Given the description of an element on the screen output the (x, y) to click on. 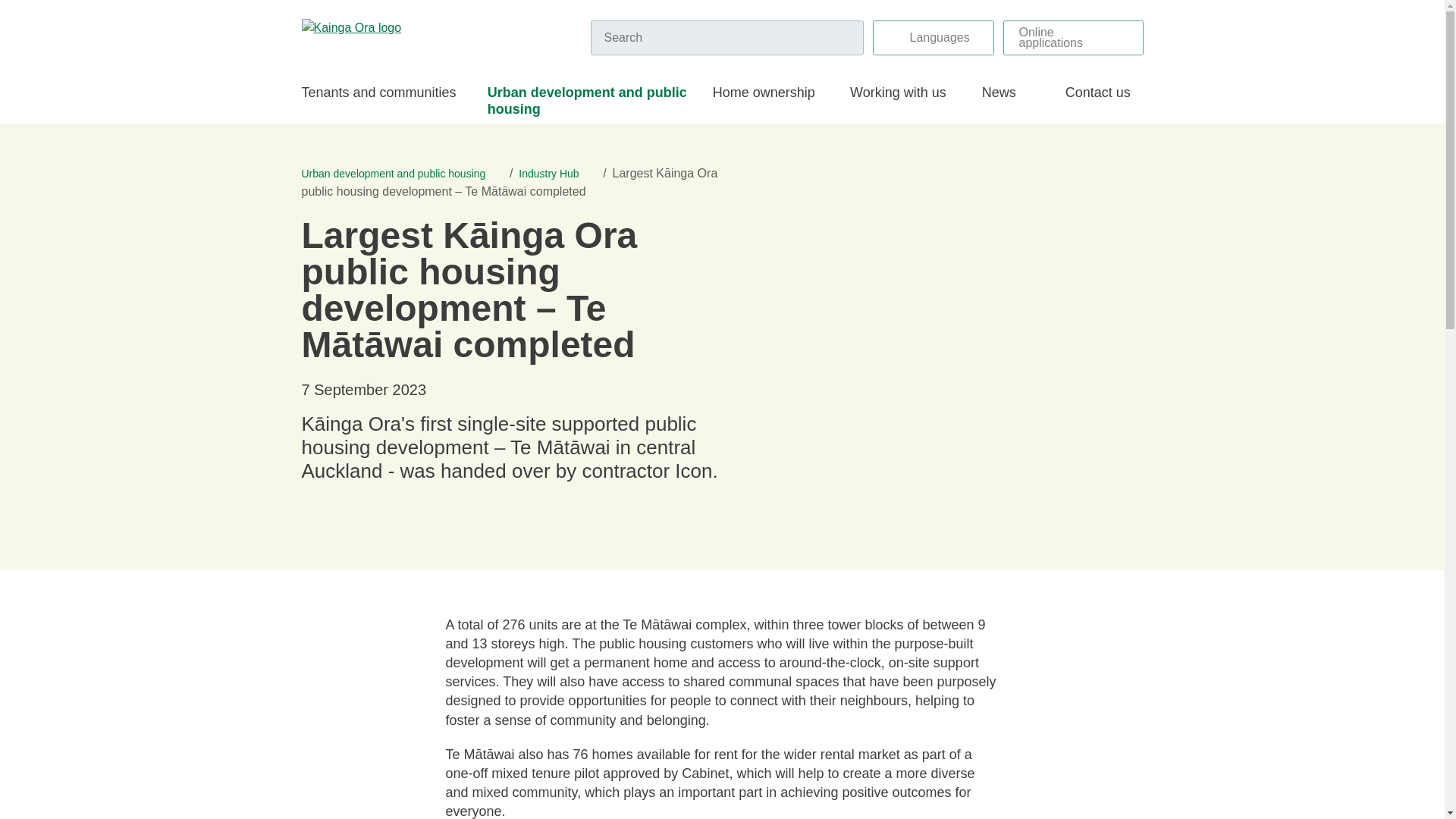
Online applications (1072, 37)
Languages (932, 37)
